Given the description of an element on the screen output the (x, y) to click on. 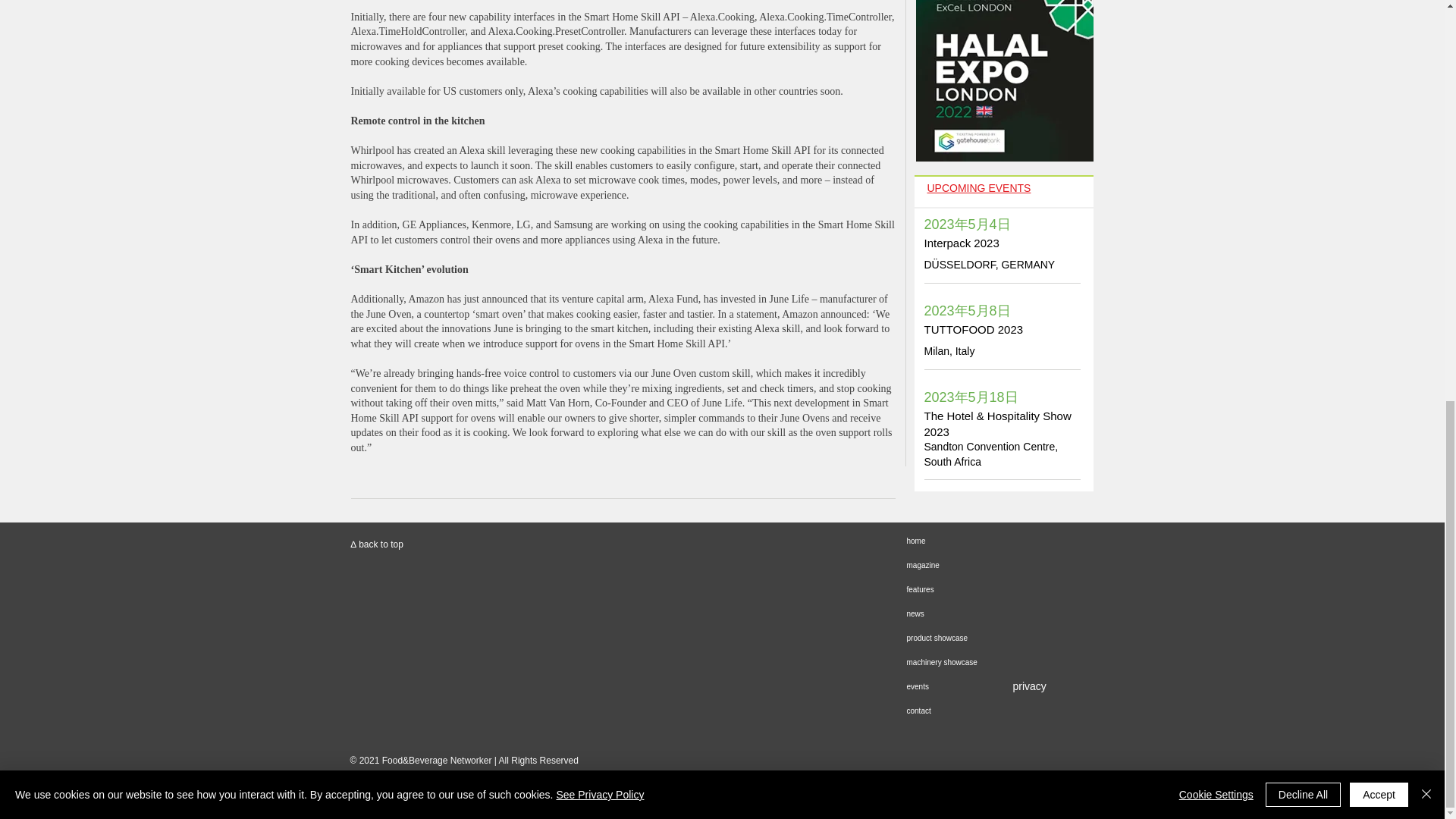
magazine (1011, 565)
Twitter Tweet (373, 514)
Twitter Follow (427, 514)
UPCOMING EVENTS (978, 187)
home (1011, 541)
